Given the description of an element on the screen output the (x, y) to click on. 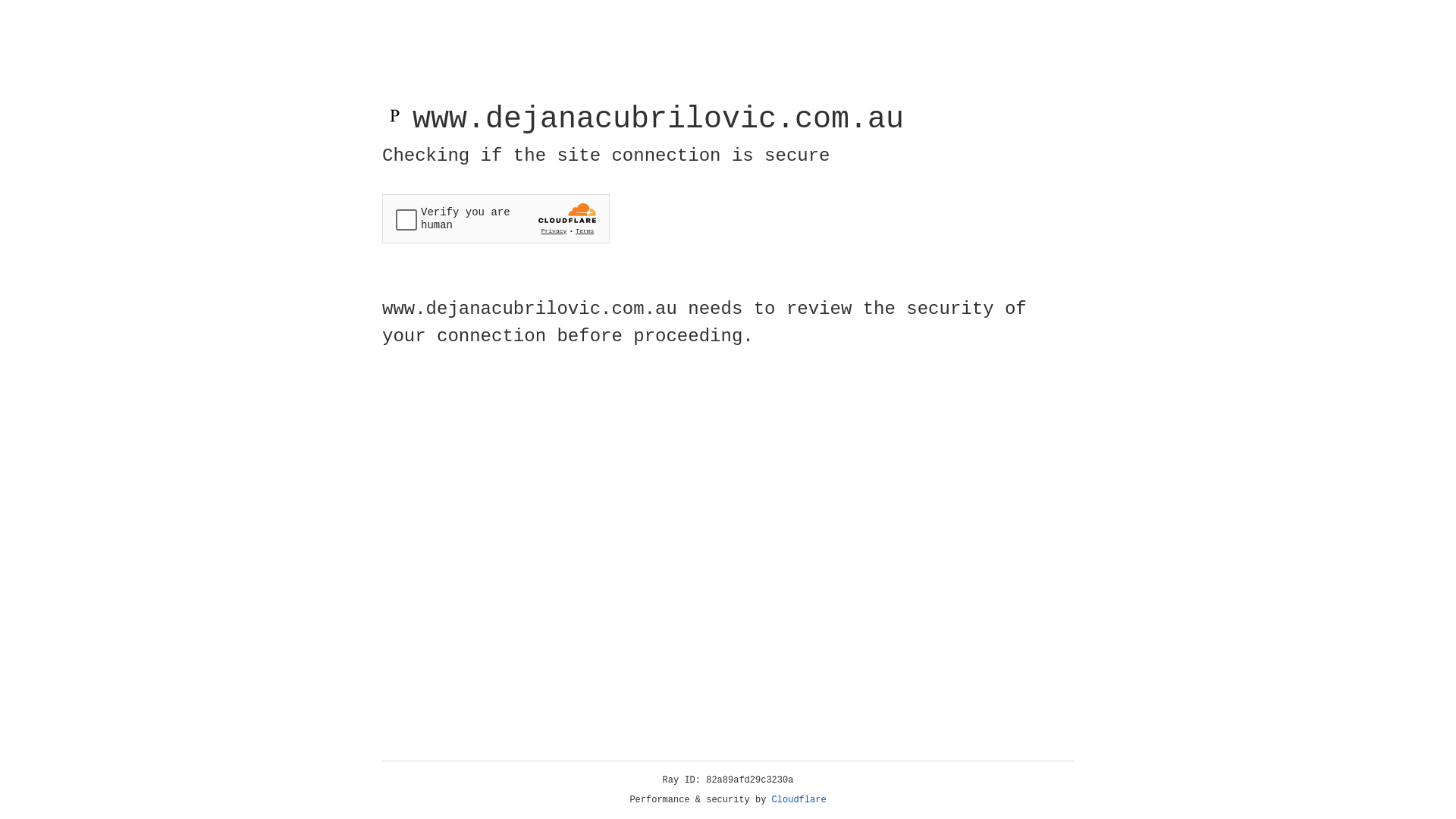
Cloudflare Element type: text (798, 799)
Widget containing a Cloudflare security challenge Element type: hover (495, 218)
